Given the description of an element on the screen output the (x, y) to click on. 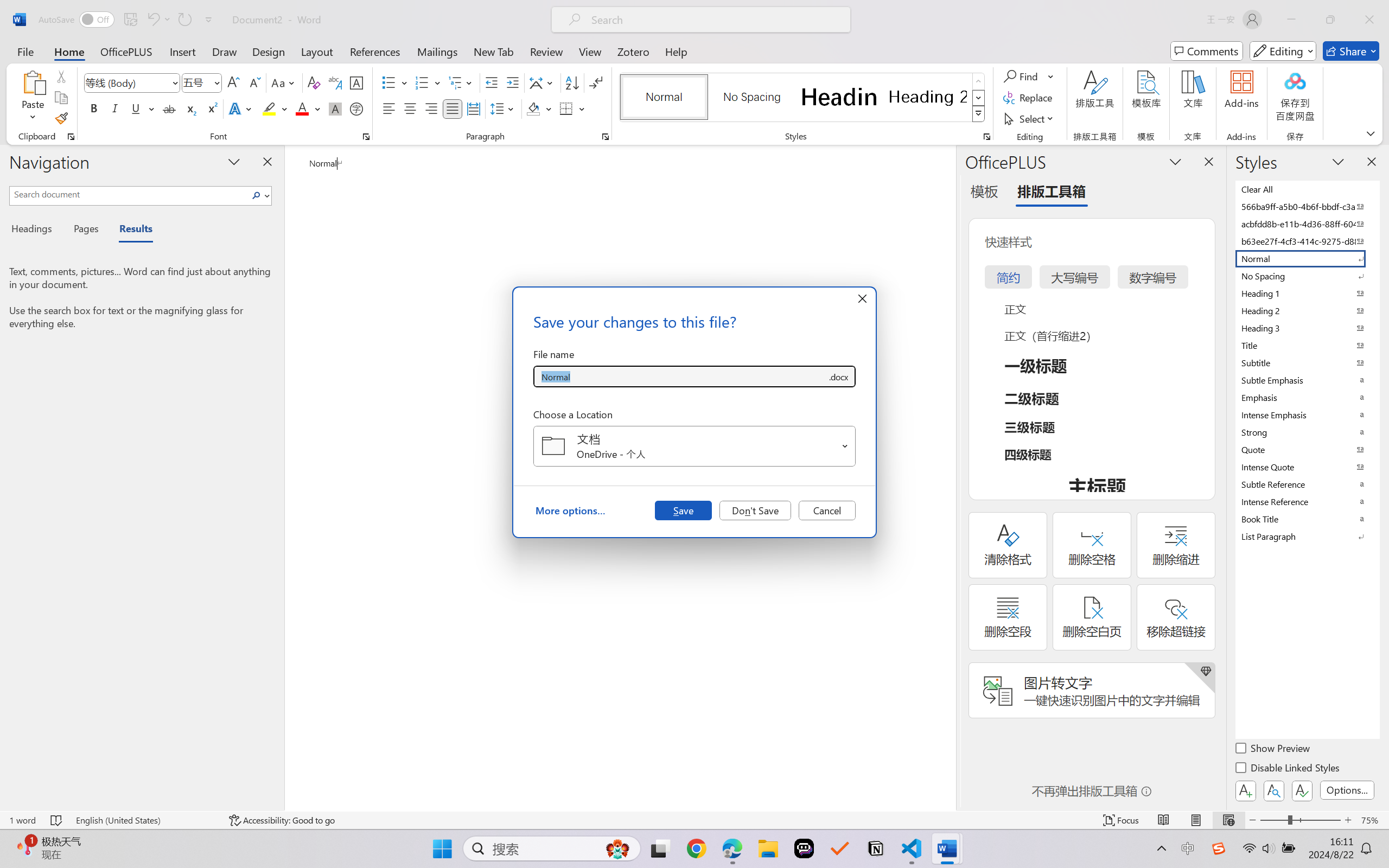
Cut (60, 75)
Layout (316, 51)
Select (1030, 118)
Align Left (388, 108)
Enclose Characters... (356, 108)
Save as type (837, 376)
Zoom (1300, 819)
Quick Access Toolbar (127, 19)
